Given the description of an element on the screen output the (x, y) to click on. 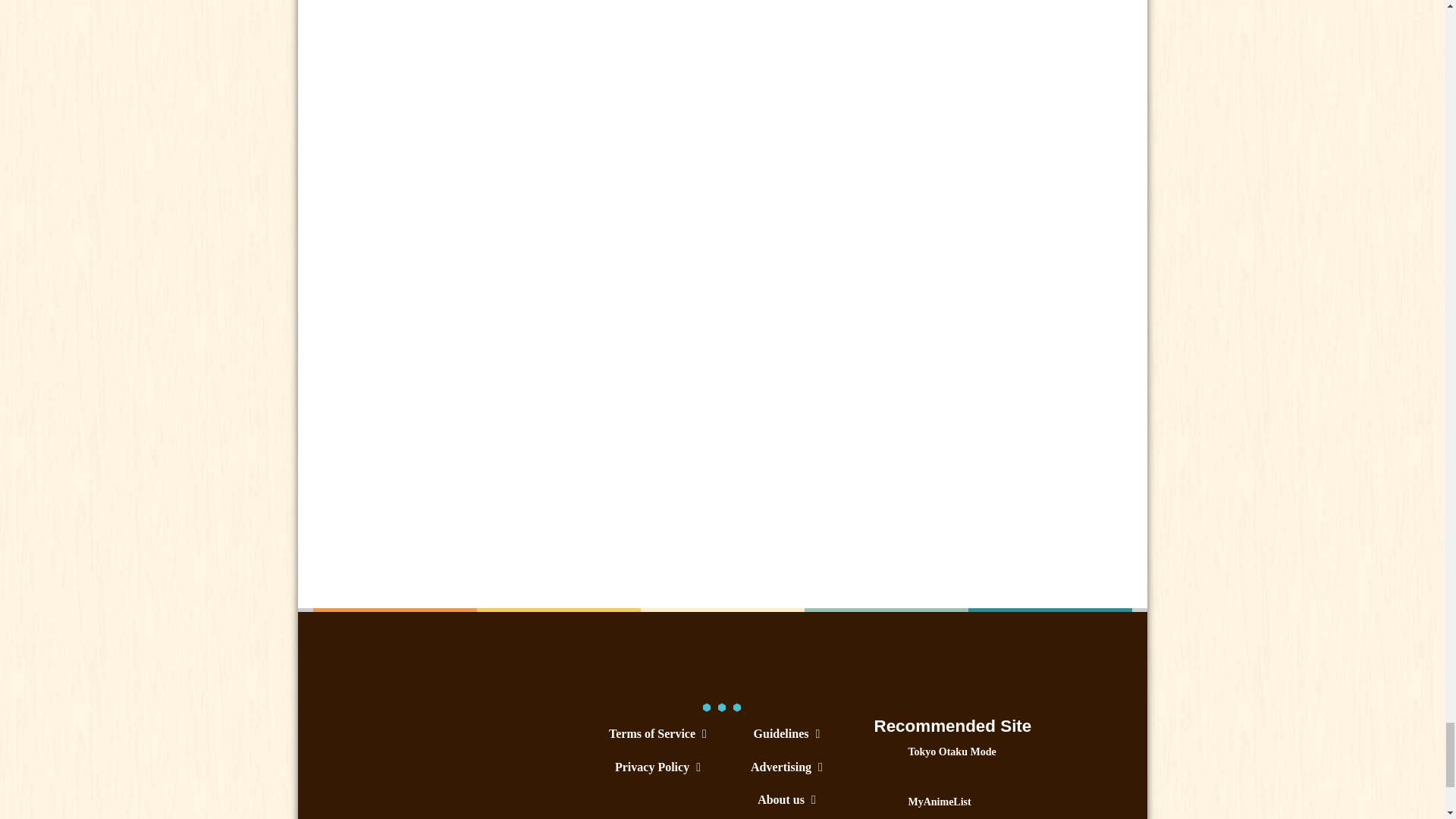
Terms of Service Agreement (657, 733)
Guidelines (786, 733)
Privacy Policy (657, 766)
